Given the description of an element on the screen output the (x, y) to click on. 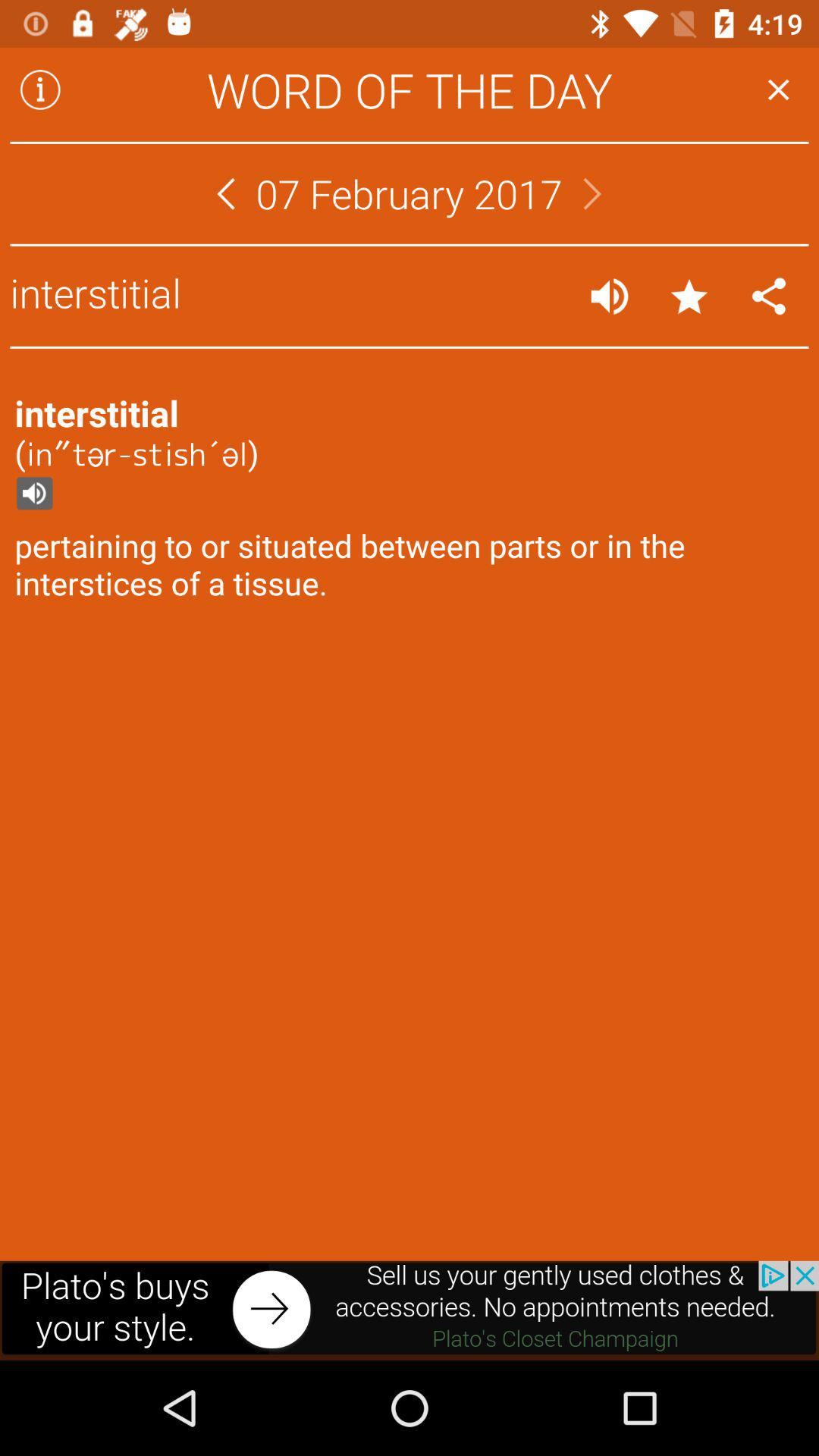
next day (592, 193)
